Given the description of an element on the screen output the (x, y) to click on. 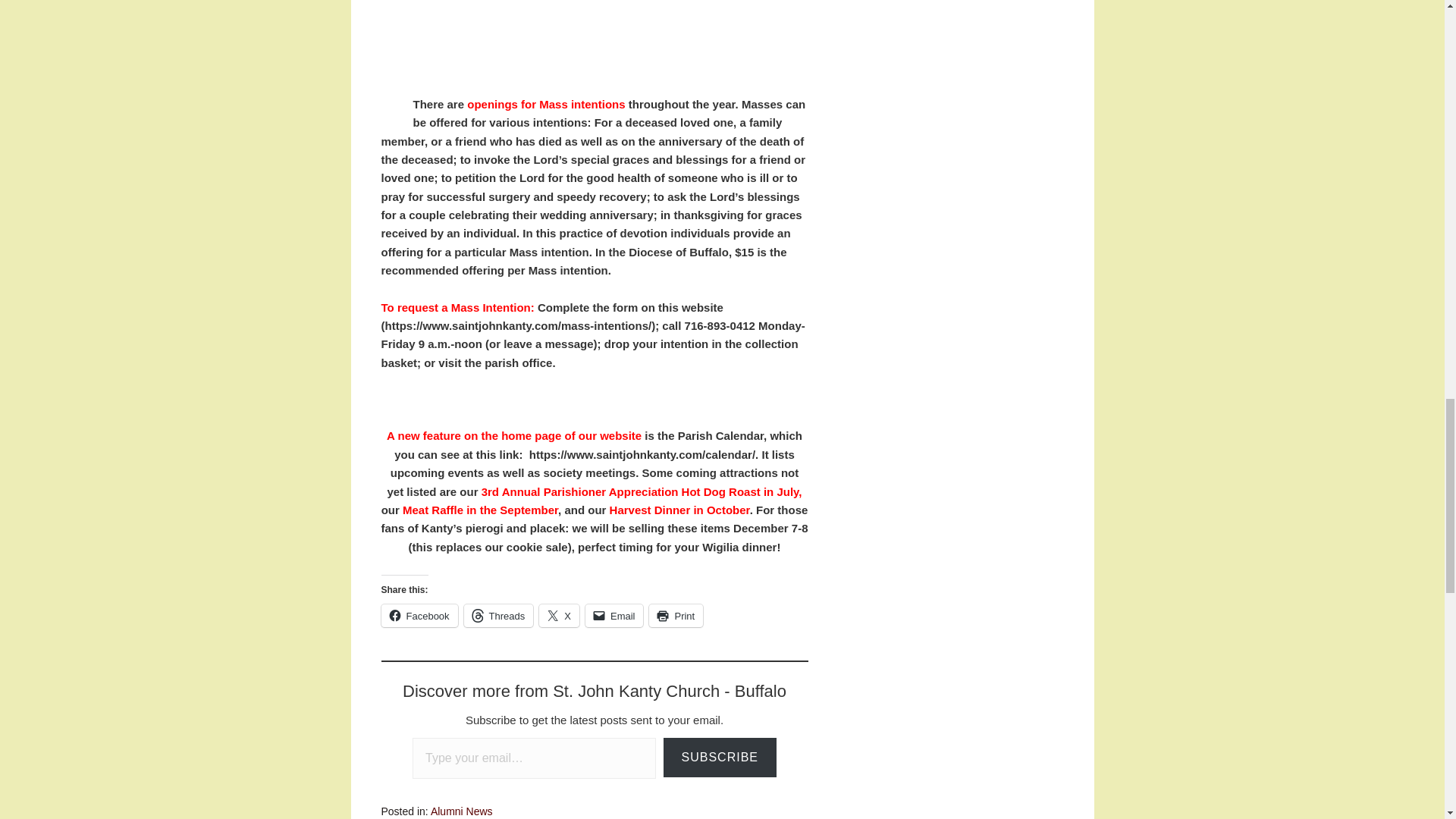
Click to print (676, 615)
Click to share on Facebook (418, 615)
Please fill in this field. (534, 758)
X (558, 615)
Click to share on X (558, 615)
SUBSCRIBE (719, 757)
Threads (499, 615)
Click to share on Threads (499, 615)
Alumni News (461, 811)
Facebook (418, 615)
